Given the description of an element on the screen output the (x, y) to click on. 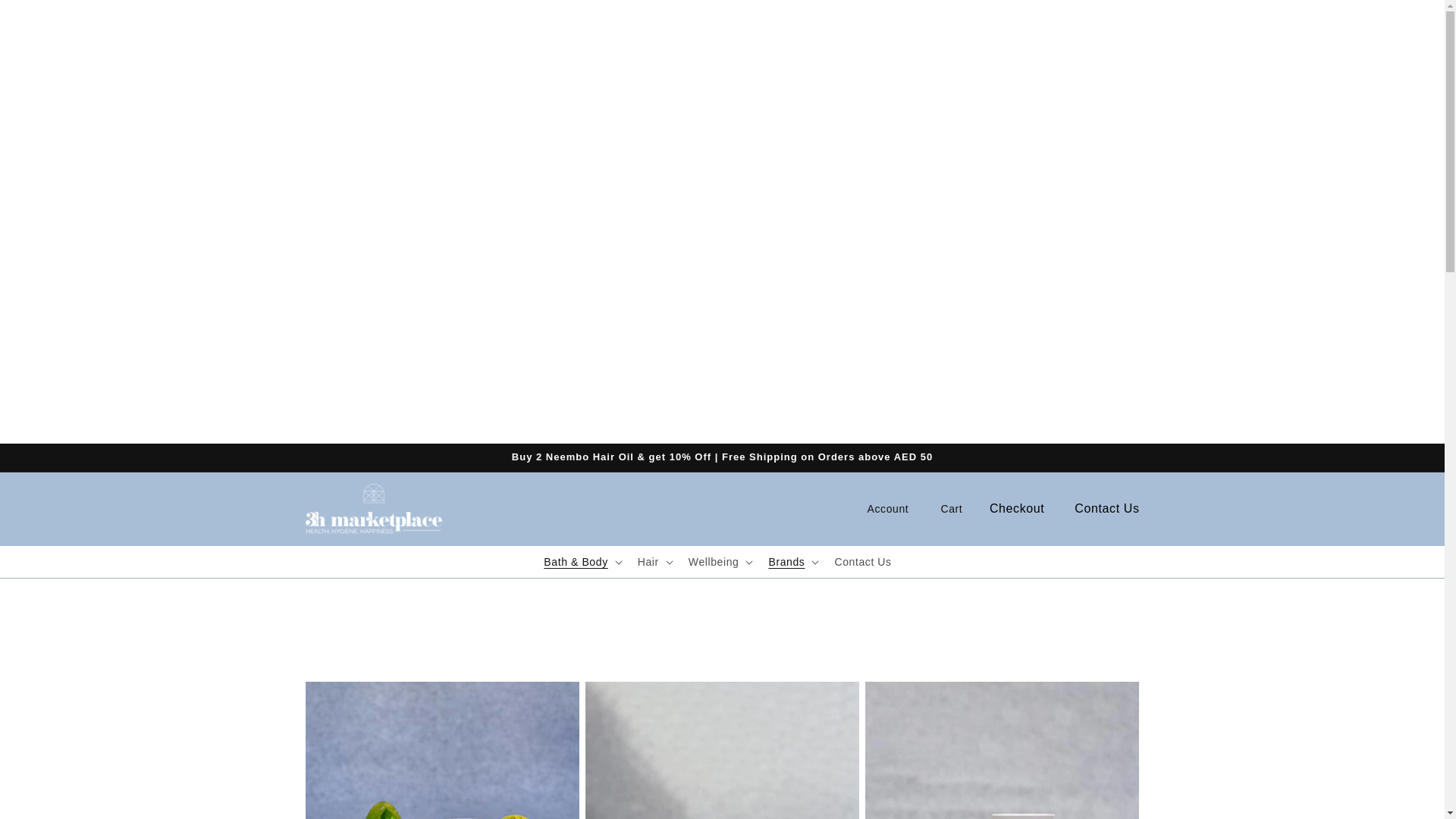
Checkout Element type: text (1016, 509)
Account
Log in Element type: text (887, 508)
Cart
Cart Element type: text (951, 508)
Contact Us Element type: text (1106, 509)
Contact Us Element type: text (862, 561)
